Given the description of an element on the screen output the (x, y) to click on. 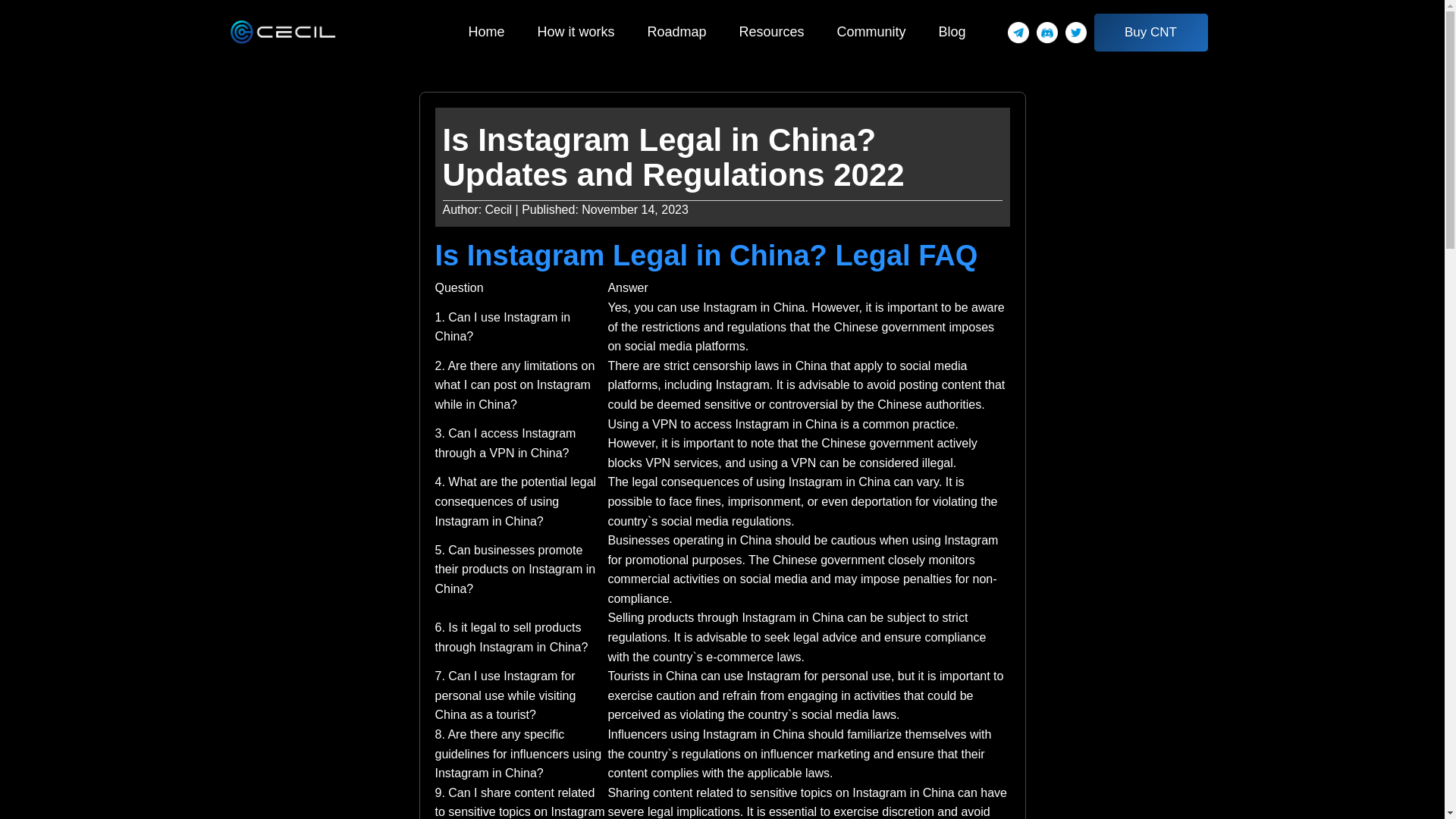
Resources (770, 32)
How it works (575, 32)
Roadmap (676, 32)
Buy CNT (1150, 32)
Blog (952, 32)
Community (871, 32)
Home (485, 32)
